Given the description of an element on the screen output the (x, y) to click on. 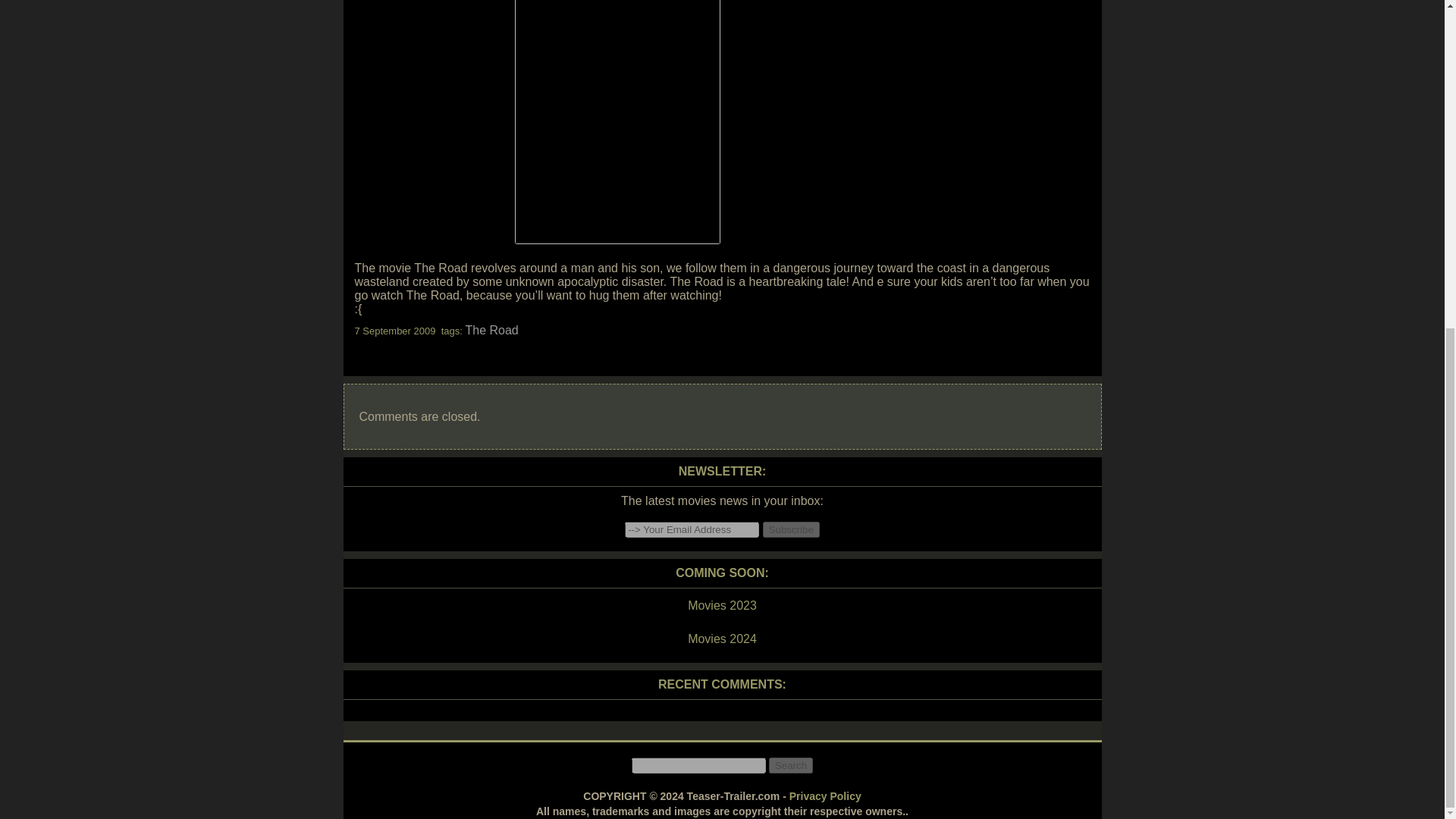
Search (790, 765)
Privacy Policy (825, 796)
Subscribe (790, 529)
The Road (491, 329)
Subscribe (790, 529)
Search (790, 765)
Movies 2024 (721, 639)
Movies 2023 (721, 605)
